Given the description of an element on the screen output the (x, y) to click on. 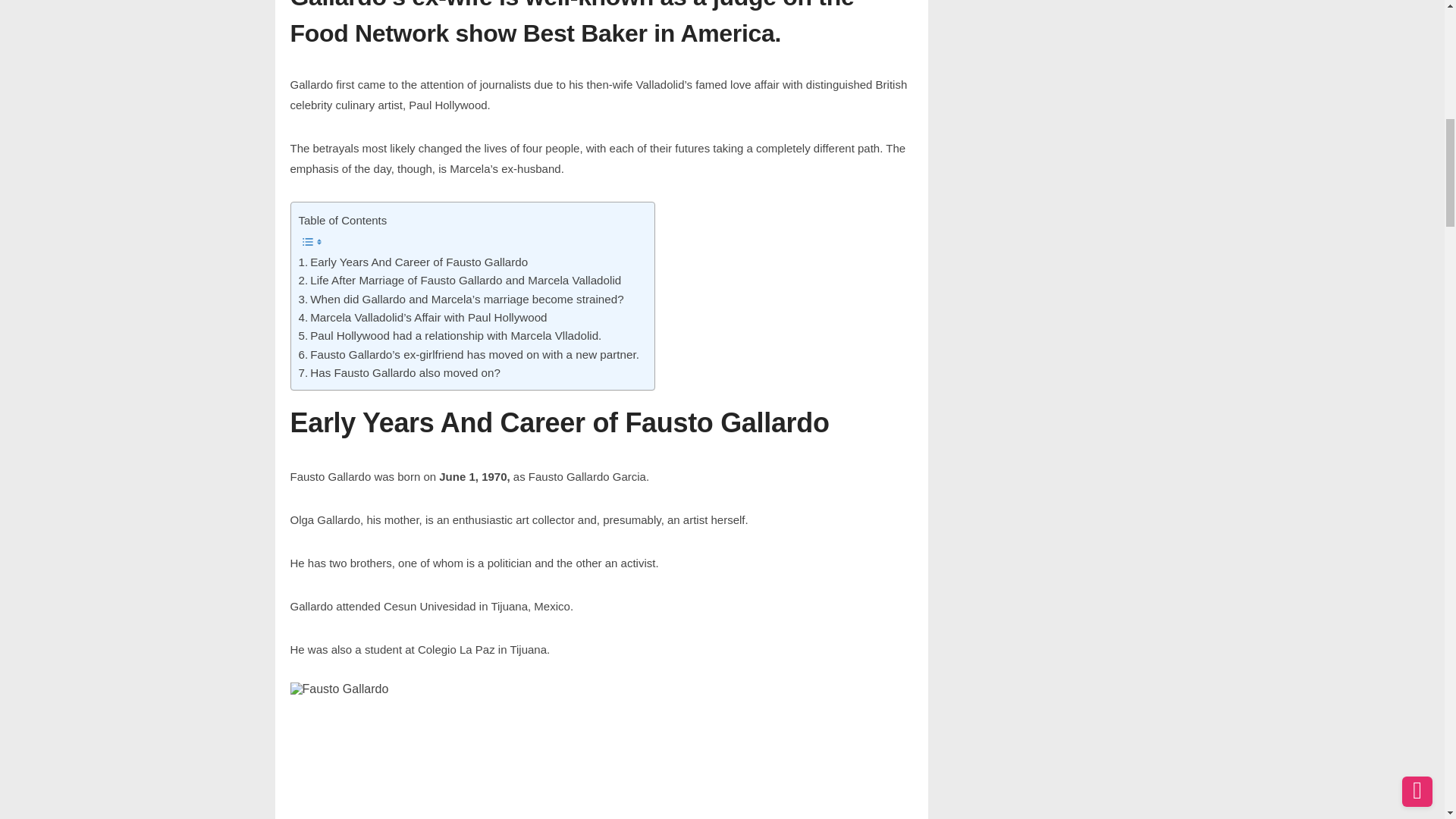
Early Years And Career of Fausto Gallardo (413, 262)
Paul Hollywood had a relationship with Marcela Vlladolid. (450, 335)
Has Fausto Gallardo also moved on? (399, 372)
Paul Hollywood had a relationship with Marcela Vlladolid. (450, 335)
Early Years And Career of Fausto Gallardo (413, 262)
Has Fausto Gallardo also moved on? (399, 372)
